Given the description of an element on the screen output the (x, y) to click on. 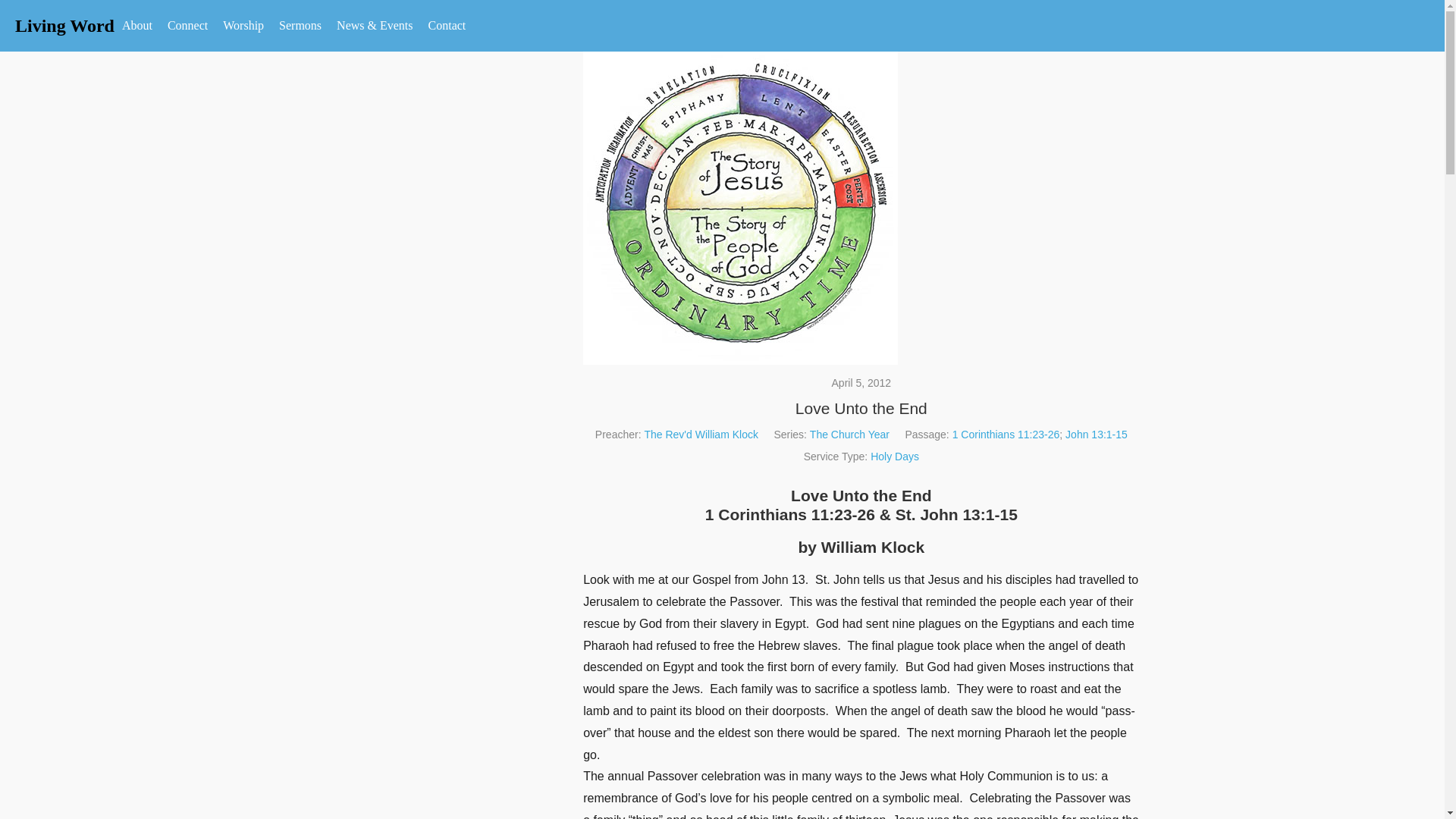
Living Word (64, 25)
1 Corinthians 11:23-26 (1005, 434)
The Rev'd William Klock (700, 434)
About (137, 25)
Contact (447, 25)
Worship (242, 25)
Sermons (299, 25)
The Church Year (849, 434)
Connect (187, 25)
John 13:1-15 (1095, 434)
Holy Days (894, 456)
